Given the description of an element on the screen output the (x, y) to click on. 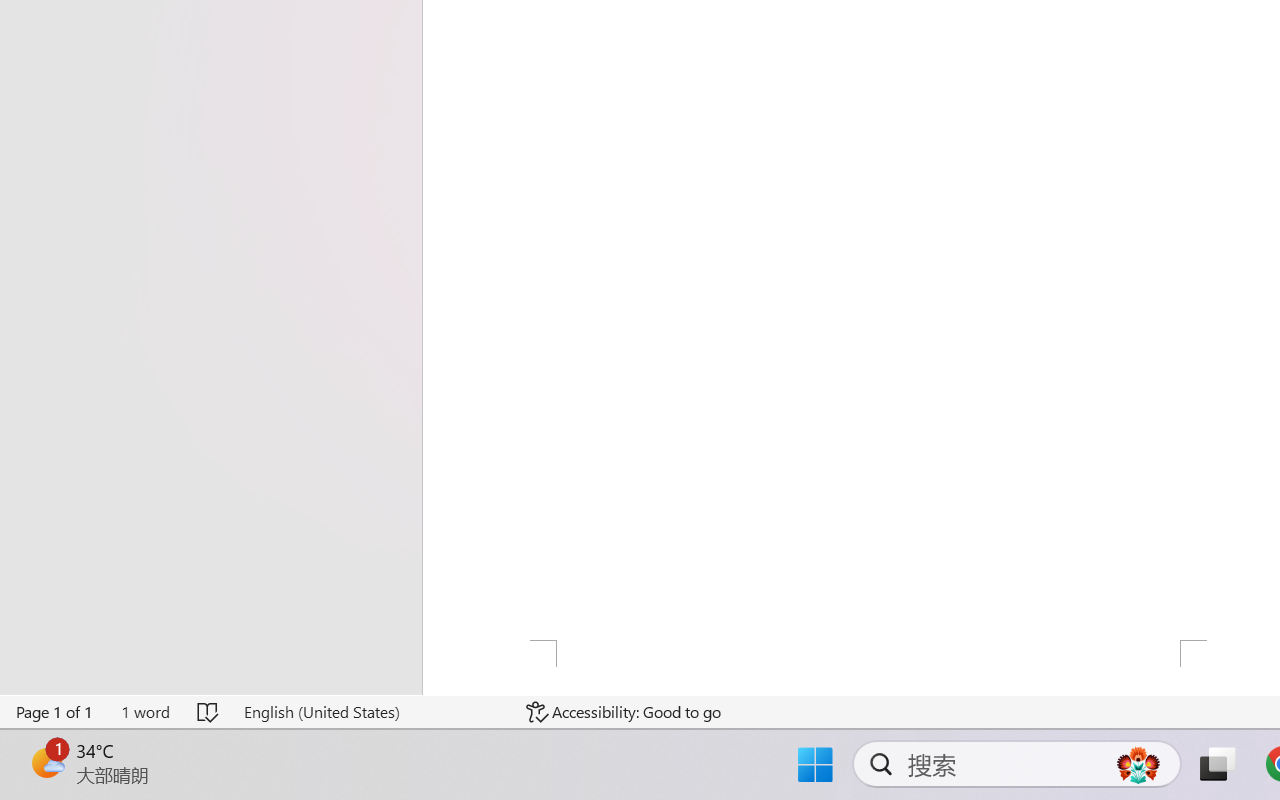
Accessibility Checker Accessibility: Good to go (623, 712)
Language English (United States) (370, 712)
AutomationID: BadgeAnchorLargeTicker (46, 762)
Spelling and Grammar Check No Errors (208, 712)
AutomationID: DynamicSearchBoxGleamImage (1138, 764)
Page Number Page 1 of 1 (55, 712)
Word Count 1 word (145, 712)
